Given the description of an element on the screen output the (x, y) to click on. 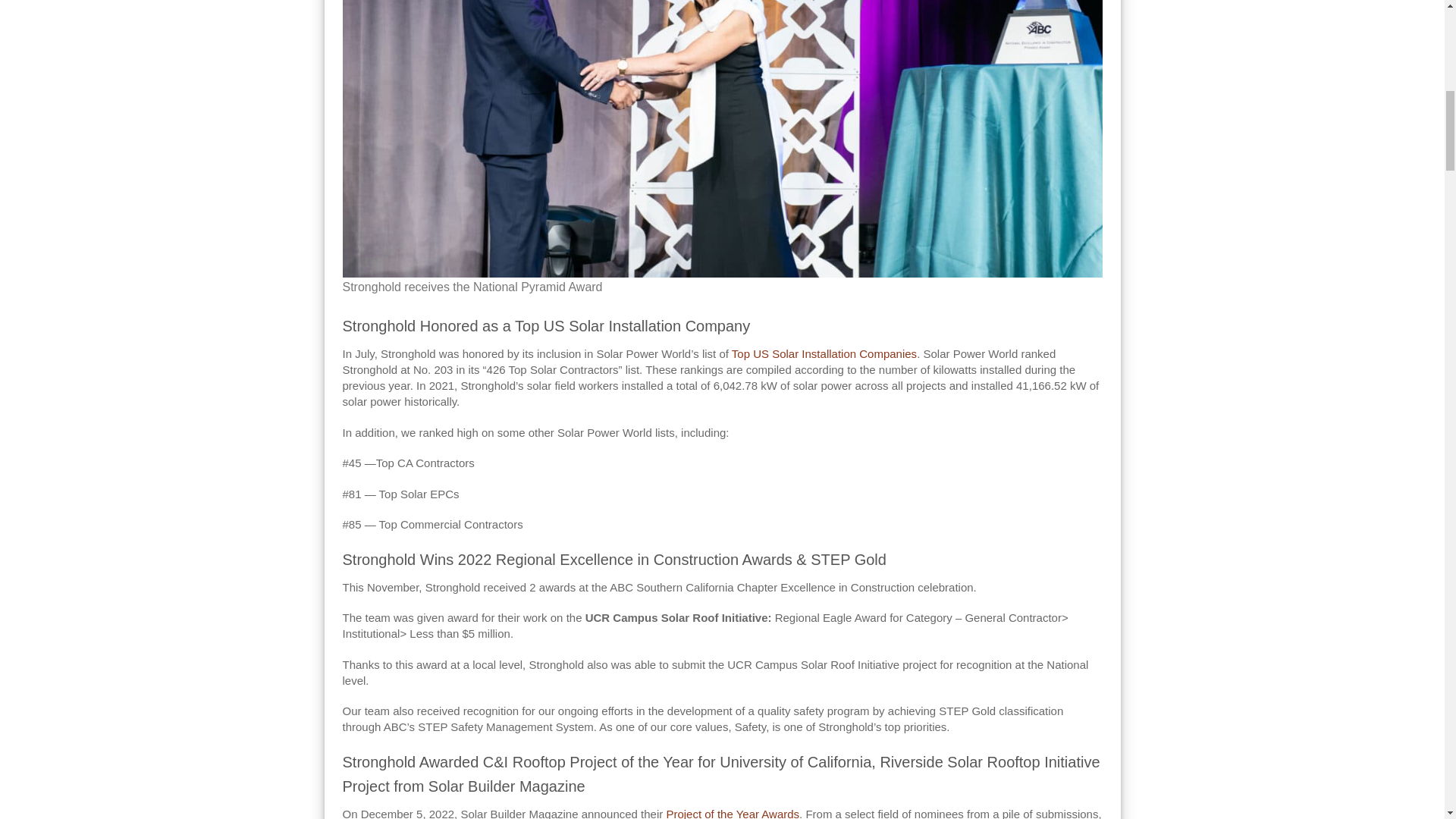
Project of the Year Awards (732, 813)
 Top US Solar Installation Companies (823, 353)
